Given the description of an element on the screen output the (x, y) to click on. 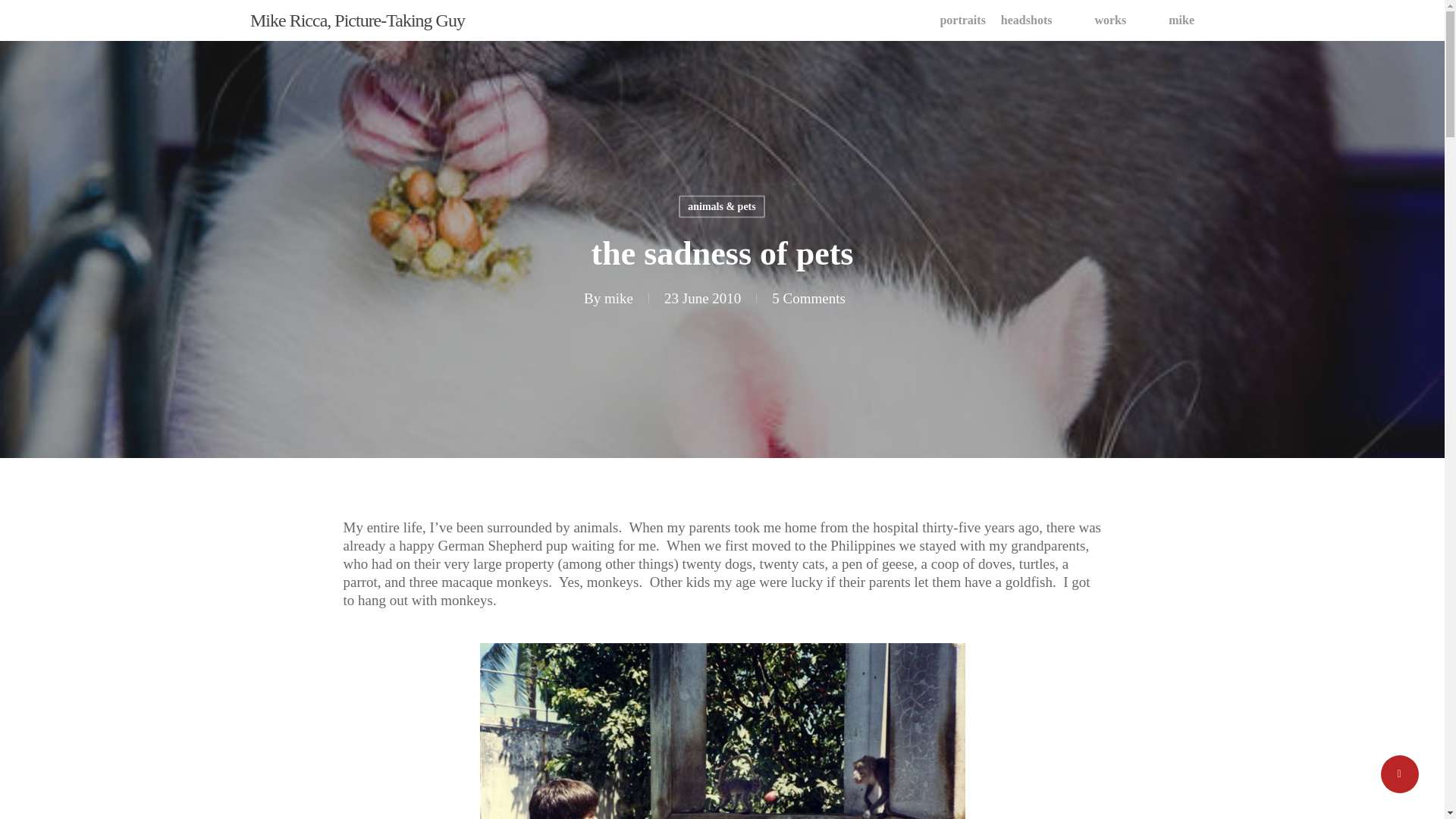
5 Comments (808, 297)
mike (1181, 20)
Mike Ricca, Picture-Taking Guy (357, 20)
works (1109, 20)
headshots (1026, 20)
people say we monkey around (721, 730)
2010.06.22 - people say we monkey around (721, 730)
portraits (962, 20)
Posts by mike (618, 297)
mike (618, 297)
